Given the description of an element on the screen output the (x, y) to click on. 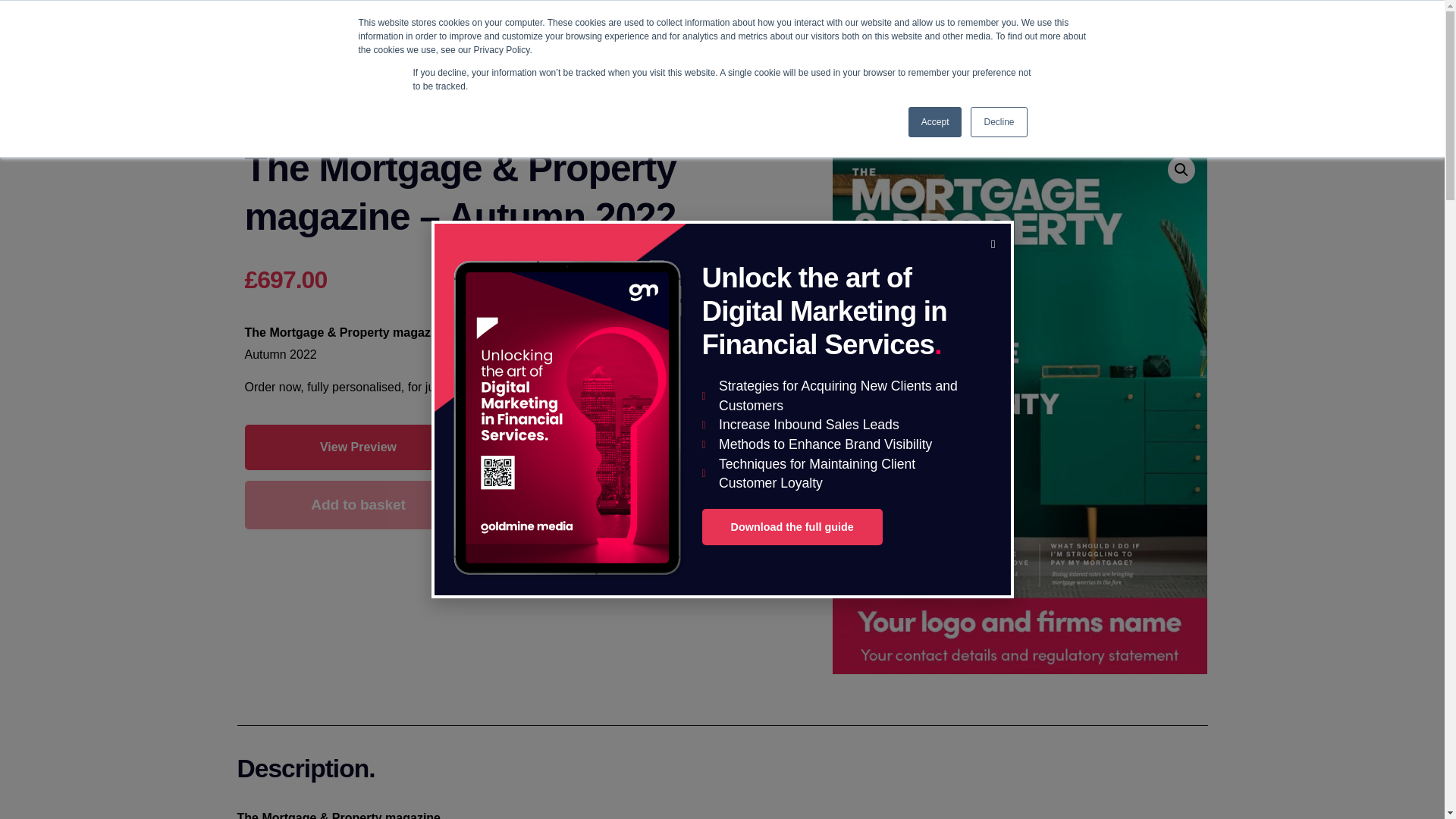
View Preview (357, 447)
Decline (998, 122)
Accept (935, 122)
View Basket (1101, 11)
Checkout (1180, 11)
Add to basket (357, 504)
